Given the description of an element on the screen output the (x, y) to click on. 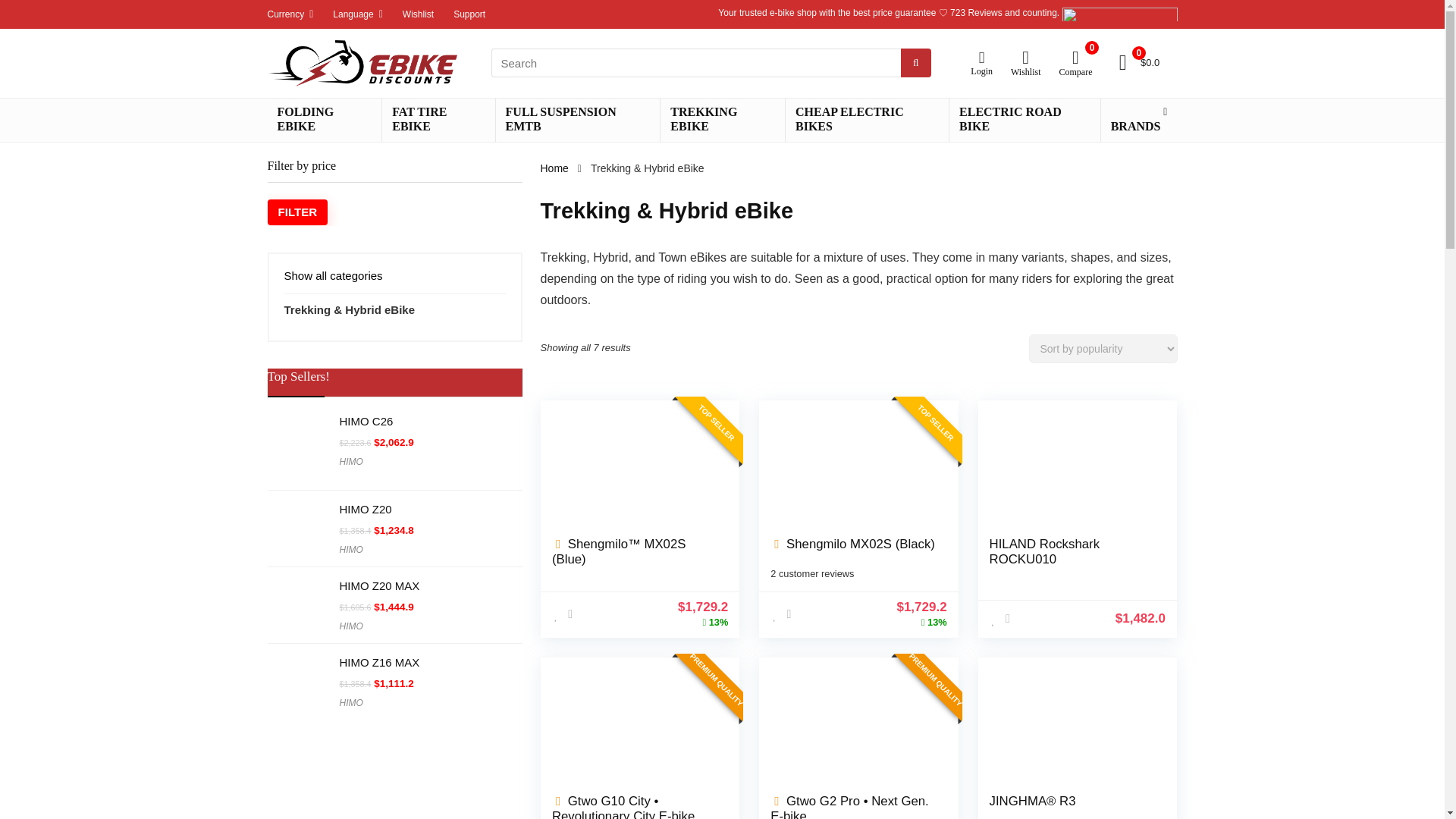
FOLDING EBIKE (323, 119)
ELECTRIC ROAD BIKE (1024, 119)
FULL SUSPENSION EMTB (578, 119)
Currency (285, 14)
Language (352, 14)
TREKKING EBIKE (722, 119)
FAT TIRE EBIKE (438, 119)
CHEAP ELECTRIC BIKES (867, 119)
Wishlist (418, 14)
Support (468, 14)
